Given the description of an element on the screen output the (x, y) to click on. 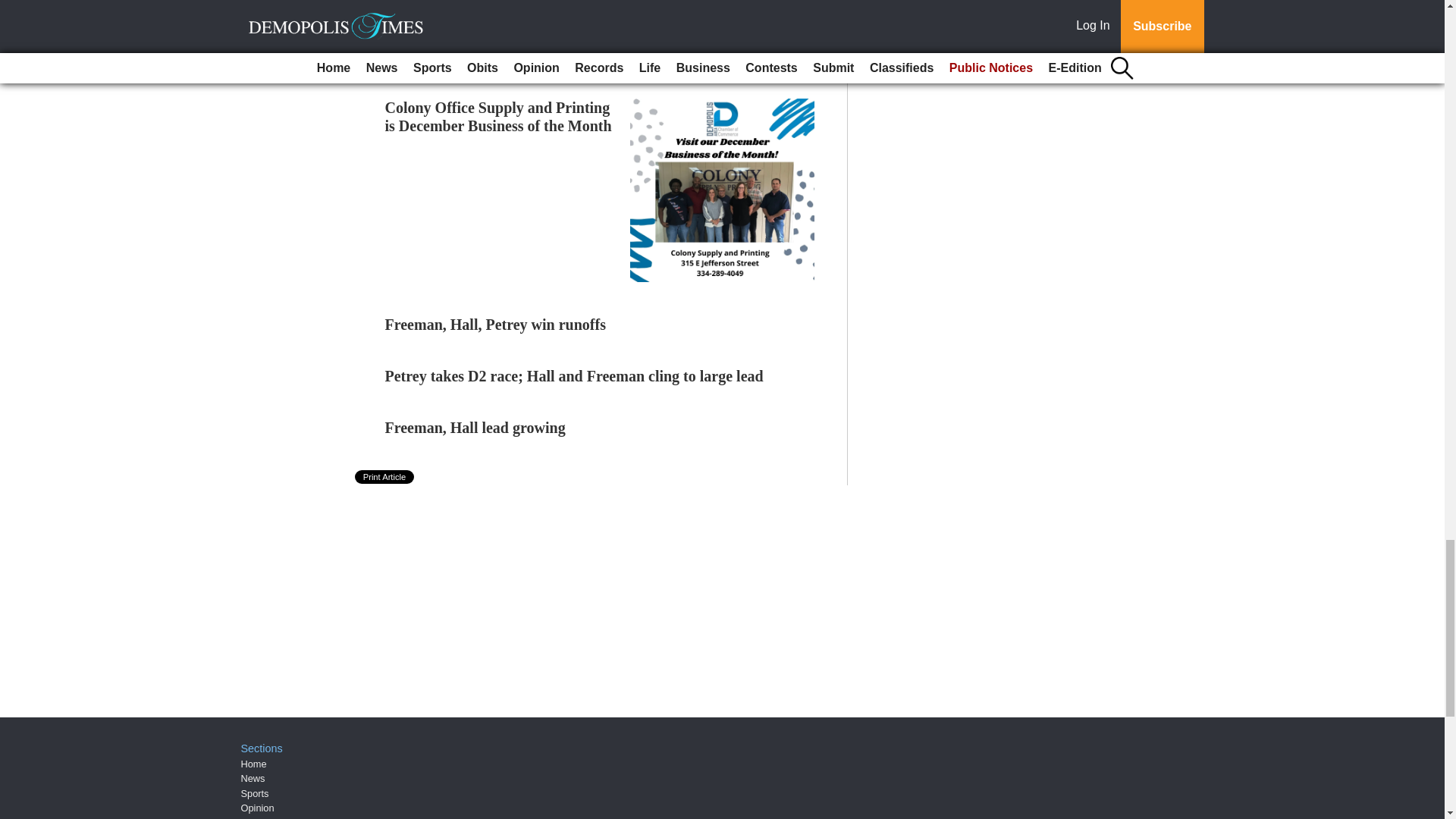
Freeman, Hall, Petrey win runoffs (495, 324)
Freeman, Hall lead growing (475, 427)
Life (249, 817)
Freeman, Hall, Petrey win runoffs (495, 324)
Opinion (258, 808)
Sports (255, 792)
Print Article (384, 477)
News (252, 778)
Freeman, Hall lead growing (475, 427)
Petrey takes D2 race; Hall and Freeman cling to large lead (573, 375)
Petrey takes D2 race; Hall and Freeman cling to large lead (573, 375)
Home (253, 763)
